Given the description of an element on the screen output the (x, y) to click on. 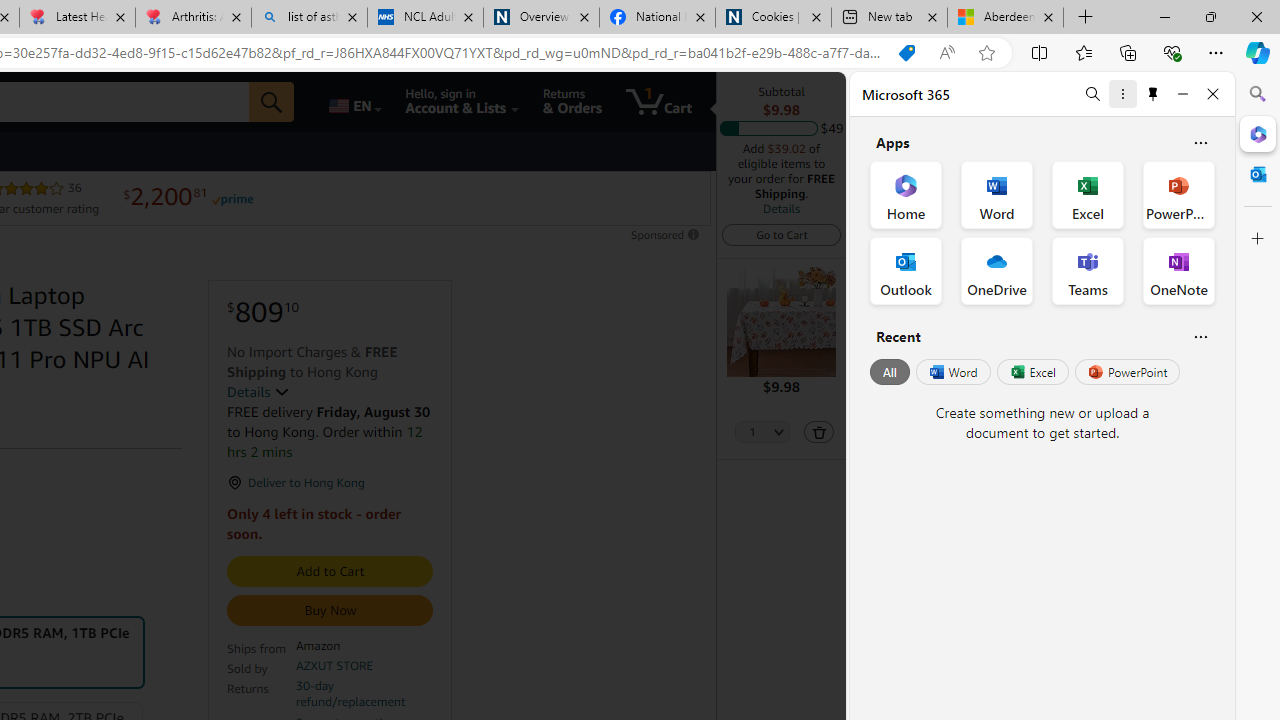
Go to Cart (781, 234)
Excel Office App (1087, 194)
Aberdeen, Hong Kong SAR hourly forecast | Microsoft Weather (1005, 17)
Word Office App (996, 194)
Arthritis: Ask Health Professionals (192, 17)
Excel (1031, 372)
Delete (818, 431)
Buy Now (329, 610)
30-day refund/replacement (363, 693)
